Given the description of an element on the screen output the (x, y) to click on. 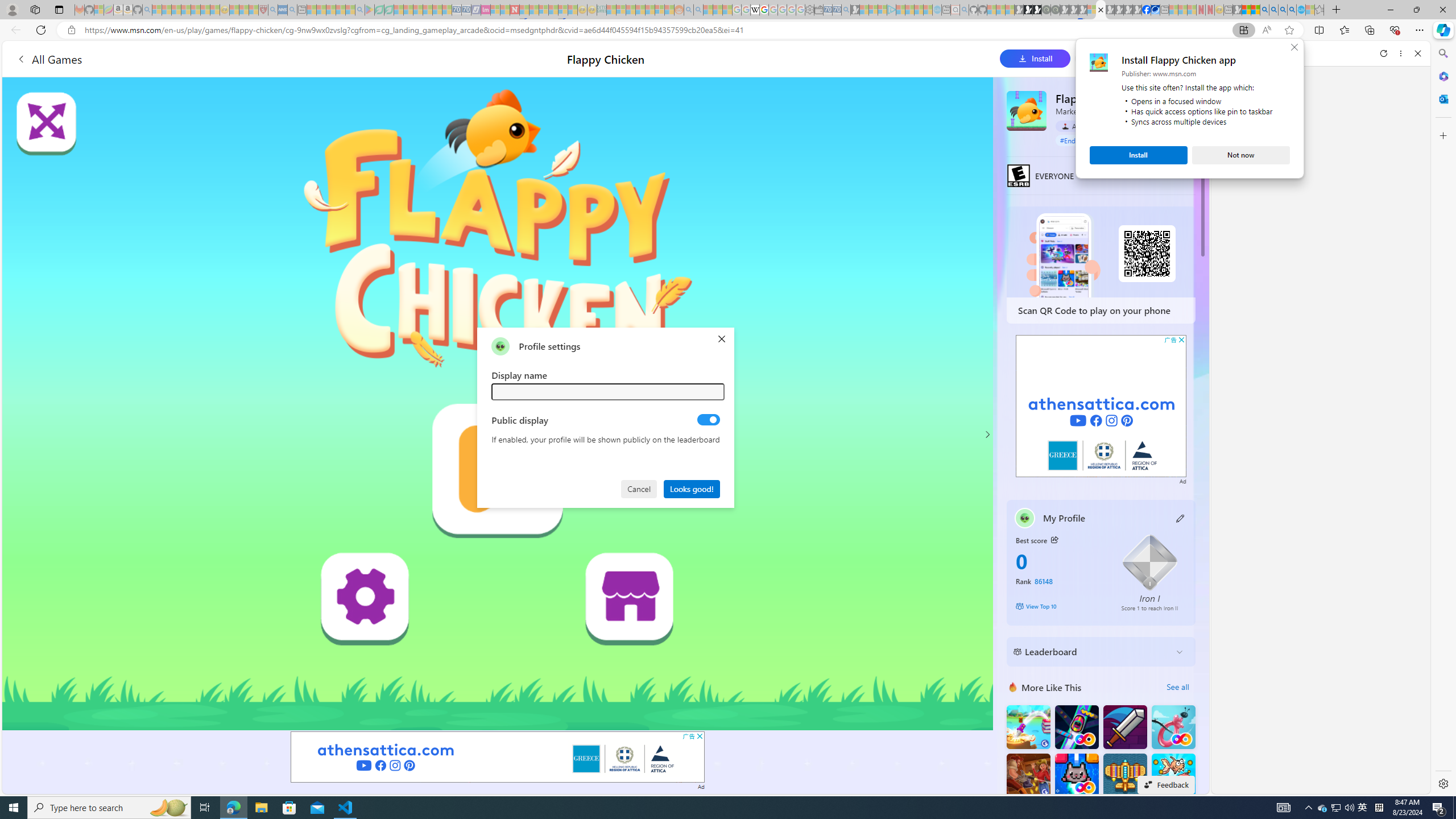
MSN - Sleeping (1236, 9)
Running applications (700, 807)
Bumper Car FRVR (1076, 726)
